Given the description of an element on the screen output the (x, y) to click on. 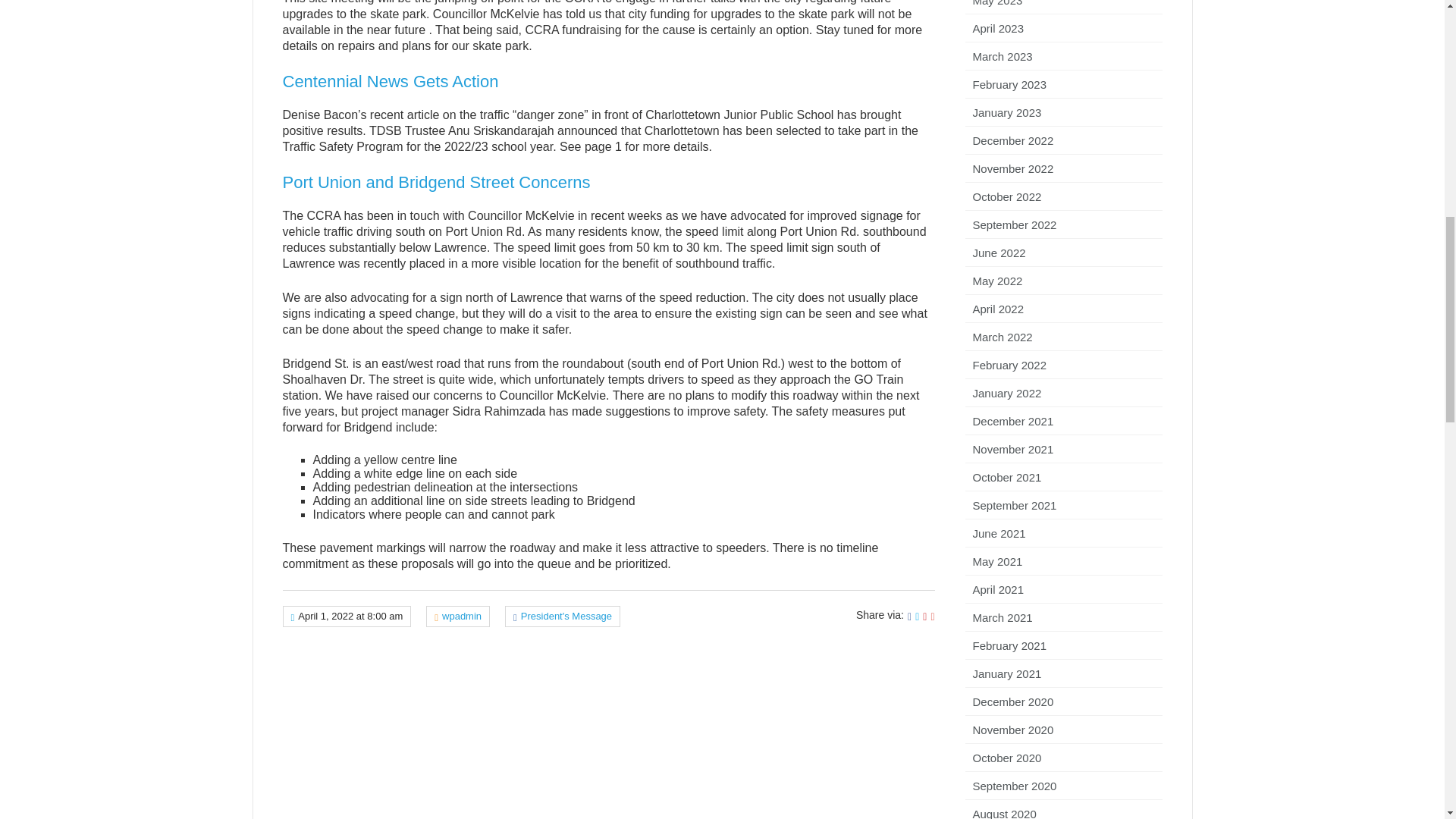
President's Message (566, 615)
wpadmin (461, 615)
